Given the description of an element on the screen output the (x, y) to click on. 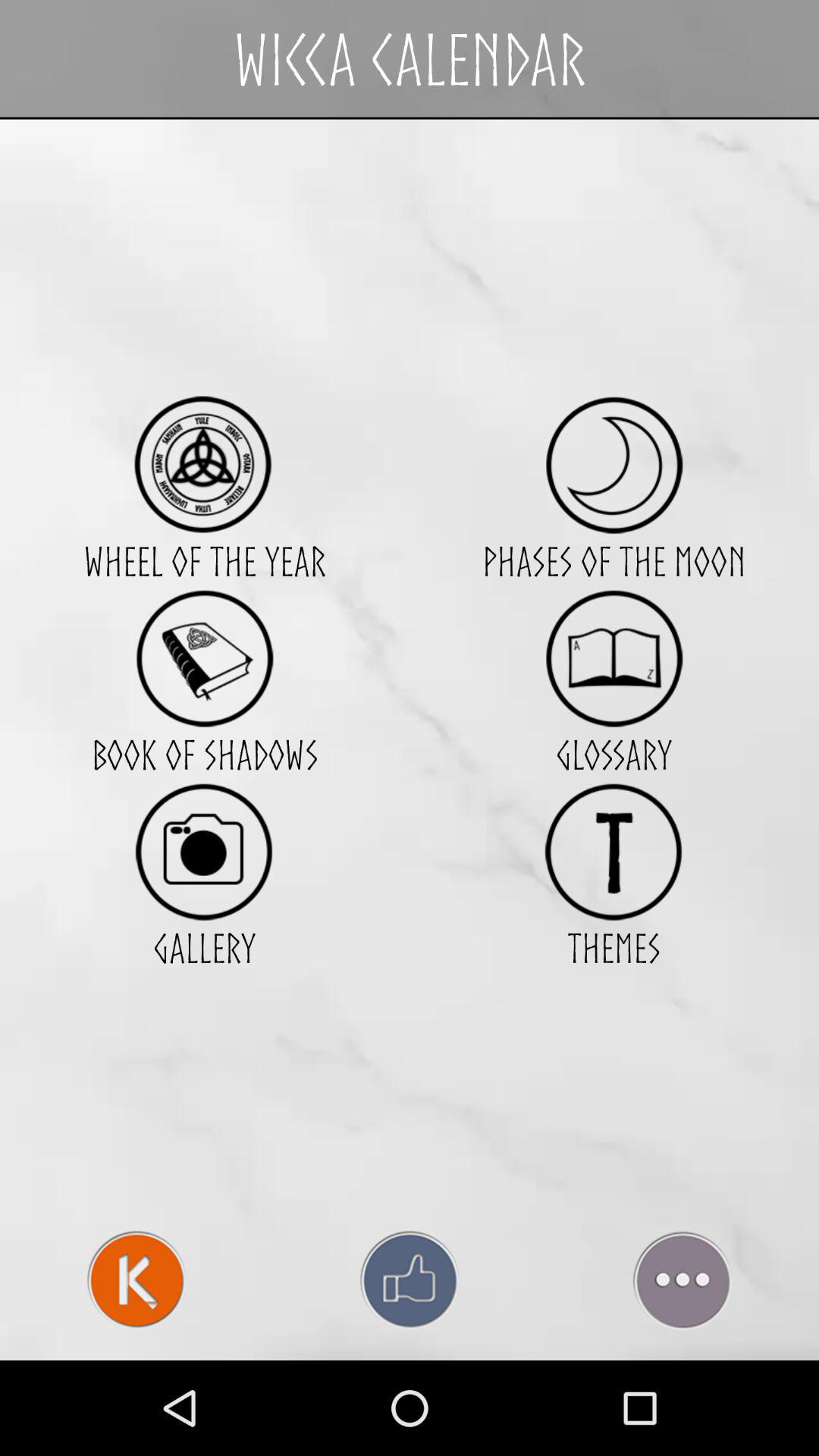
go to themes (613, 851)
